Given the description of an element on the screen output the (x, y) to click on. 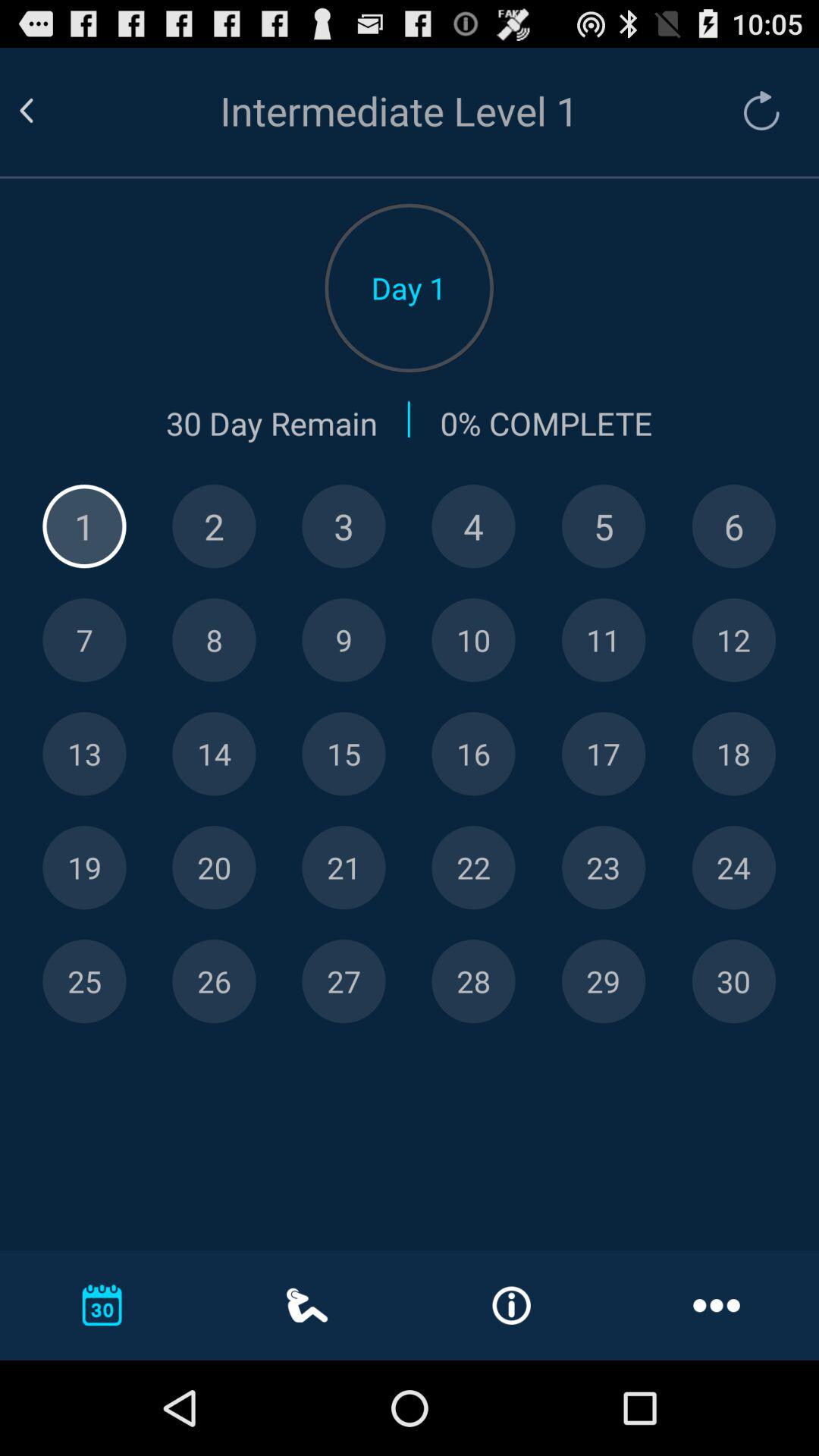
select number 21 (343, 867)
